Given the description of an element on the screen output the (x, y) to click on. 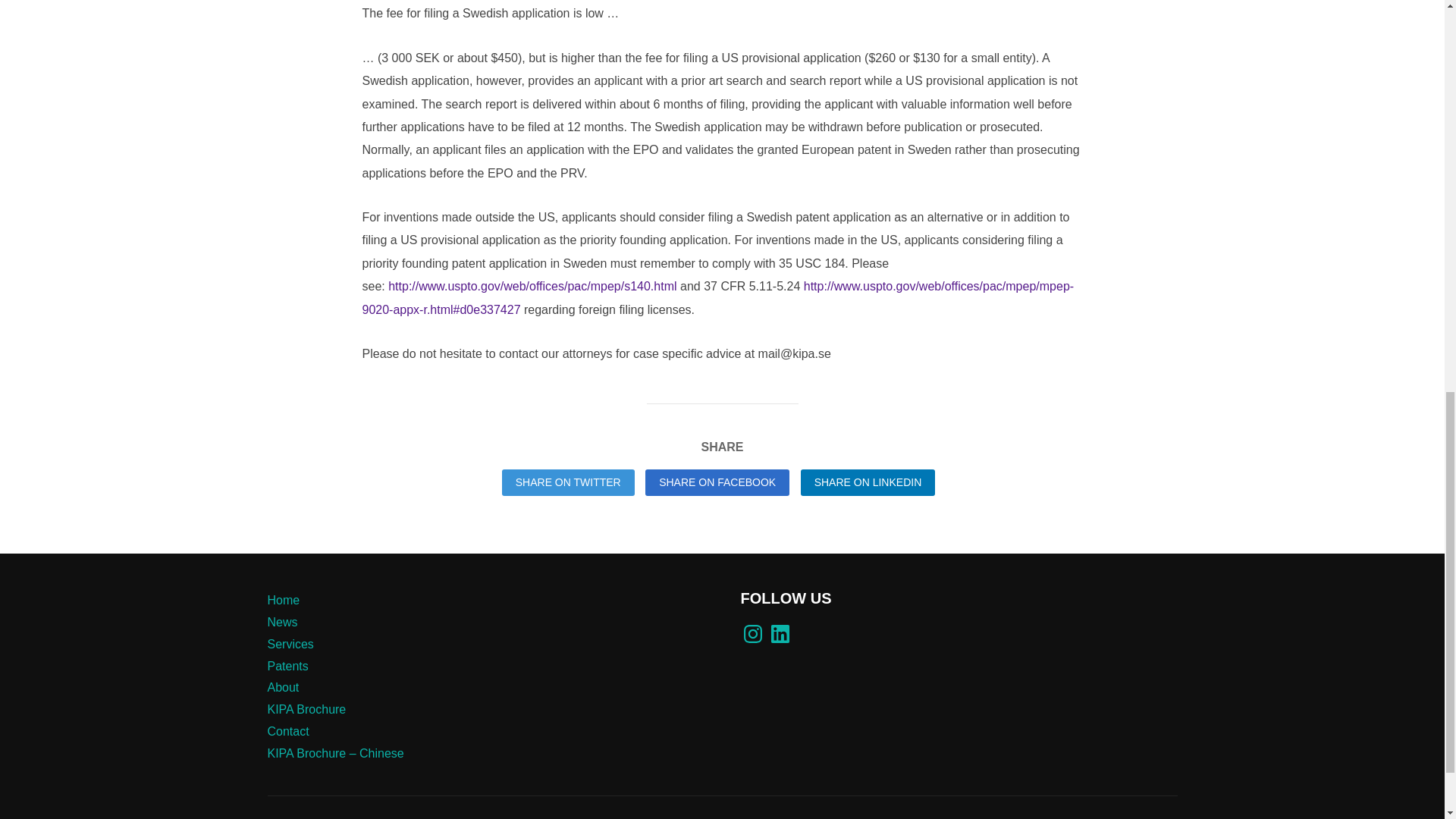
Tweet this on Twitter (568, 482)
Share on LinkedIn (868, 482)
Share this on Facebook (717, 482)
